Given the description of an element on the screen output the (x, y) to click on. 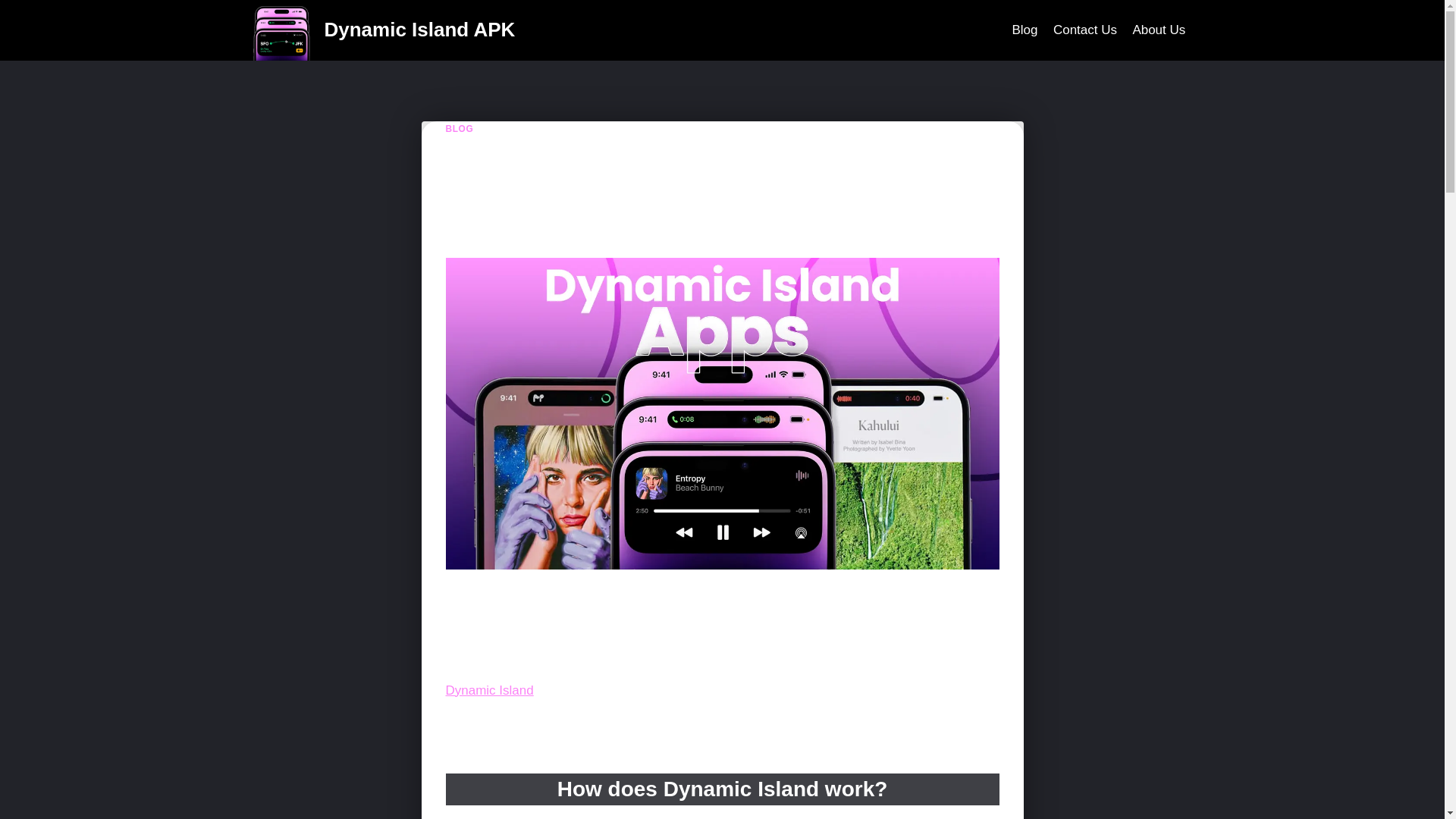
Aden (472, 236)
Contact Us (1084, 30)
Dynamic Island (489, 690)
About Us (1158, 30)
Dynamic Island APK (383, 29)
Blog (1024, 30)
BLOG (459, 128)
